Given the description of an element on the screen output the (x, y) to click on. 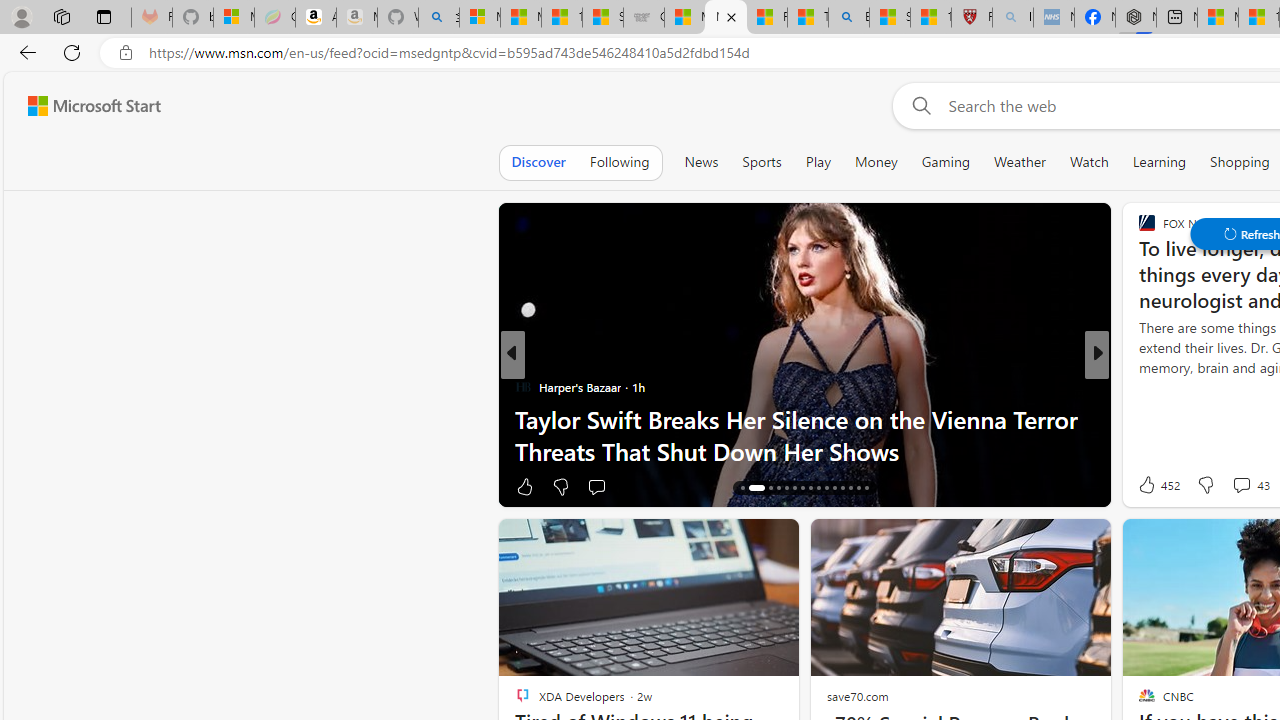
save70.com (857, 696)
View comments 7 Comment (1241, 486)
2k Like (1148, 486)
Robert H. Shmerling, MD - Harvard Health (971, 17)
Sports (761, 161)
View comments 89 Comment (1244, 486)
View comments 67 Comment (1244, 486)
